Given the description of an element on the screen output the (x, y) to click on. 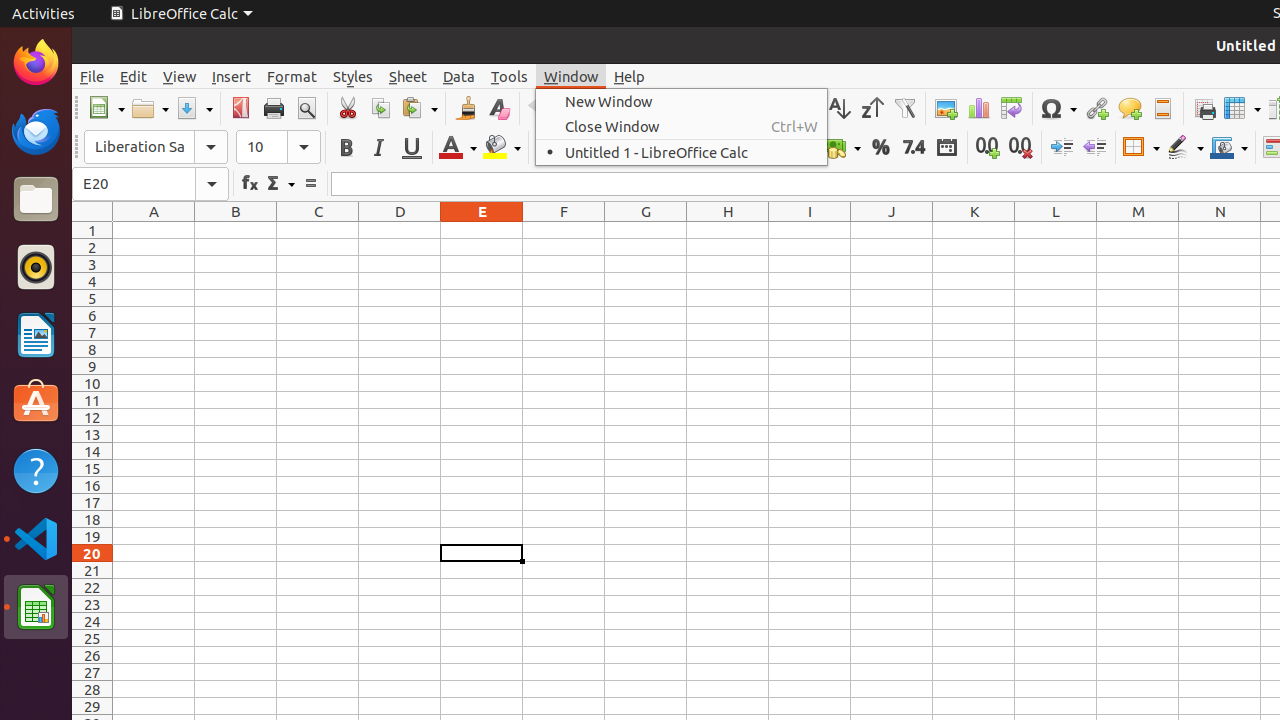
Comment Element type: push-button (1129, 108)
Print Element type: push-button (273, 108)
Decrease Element type: push-button (1094, 147)
Ubuntu Software Element type: push-button (36, 402)
C1 Element type: table-cell (318, 230)
